Given the description of an element on the screen output the (x, y) to click on. 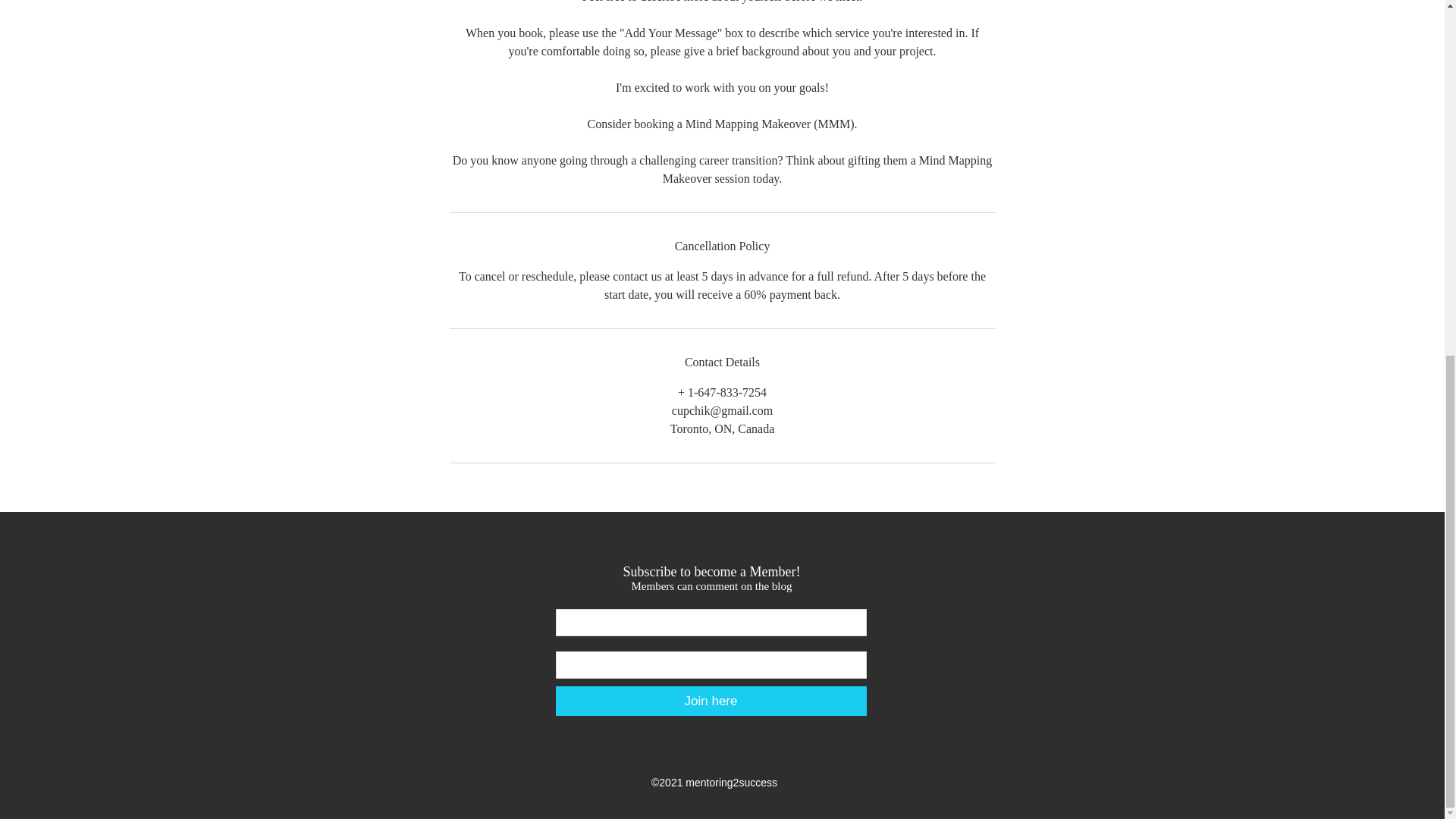
Join here (710, 700)
